Given the description of an element on the screen output the (x, y) to click on. 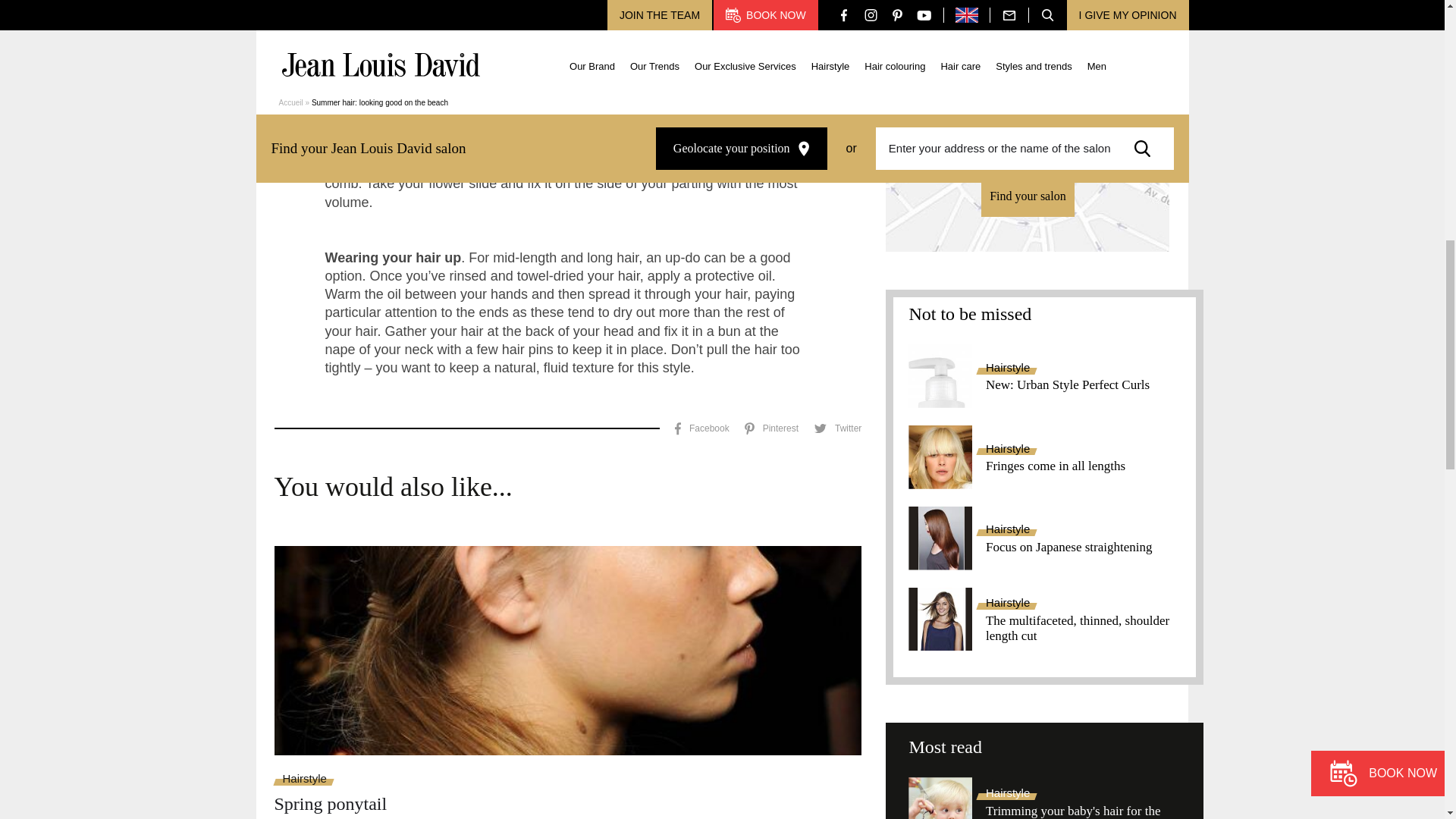
Facebook (702, 428)
Twitter (837, 428)
Pinterest (770, 428)
